Given the description of an element on the screen output the (x, y) to click on. 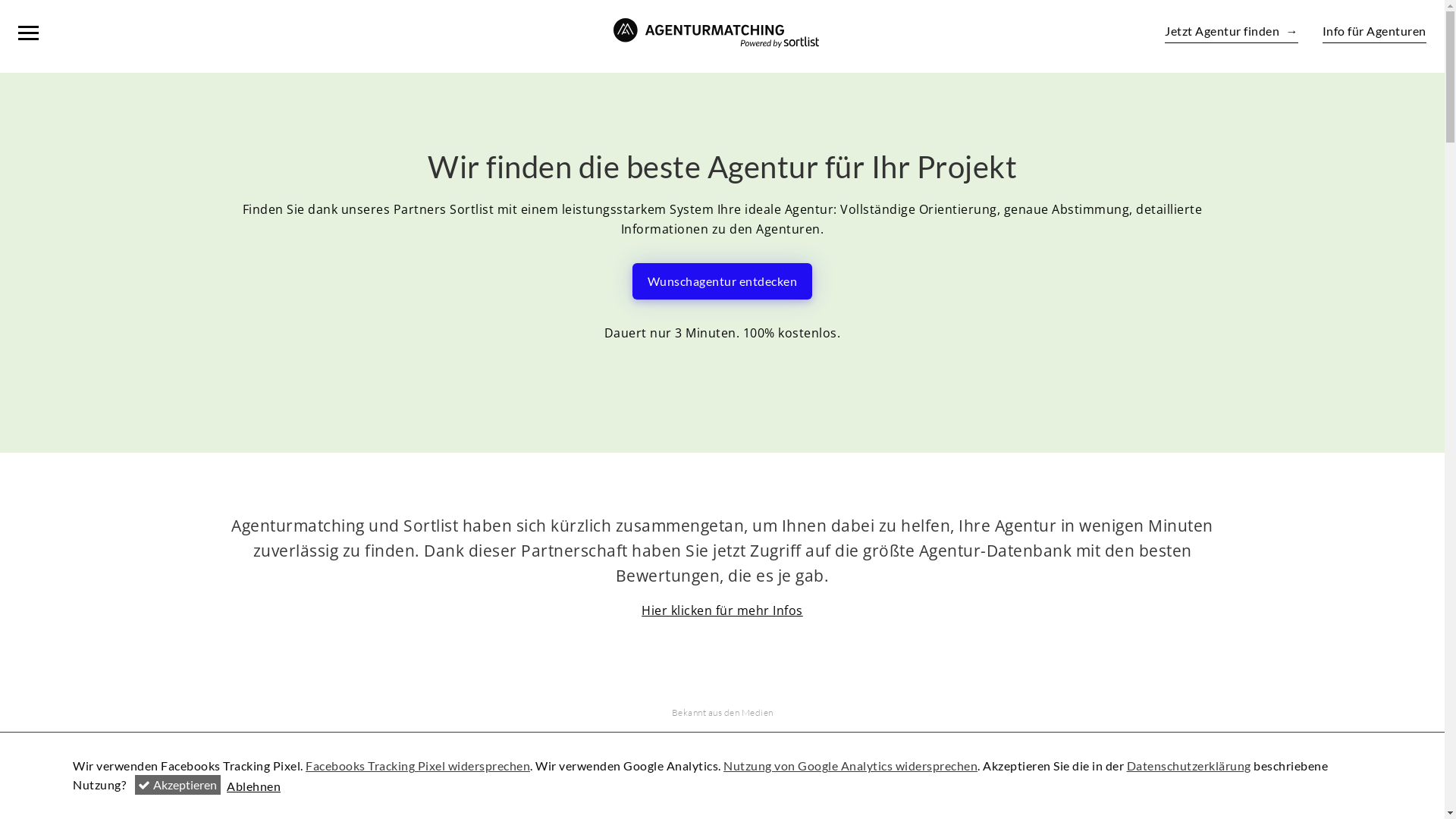
 Akzeptieren Element type: text (177, 784)
Jetzt Agentur finden Element type: text (1231, 32)
Nutzung von Google Analytics widersprechen Element type: text (850, 765)
Agenturmatching Element type: hover (716, 32)
Facebooks Tracking Pixel widersprechen Element type: text (417, 765)
Wunschagentur entdecken Element type: text (722, 281)
Ablehnen Element type: text (253, 786)
